Given the description of an element on the screen output the (x, y) to click on. 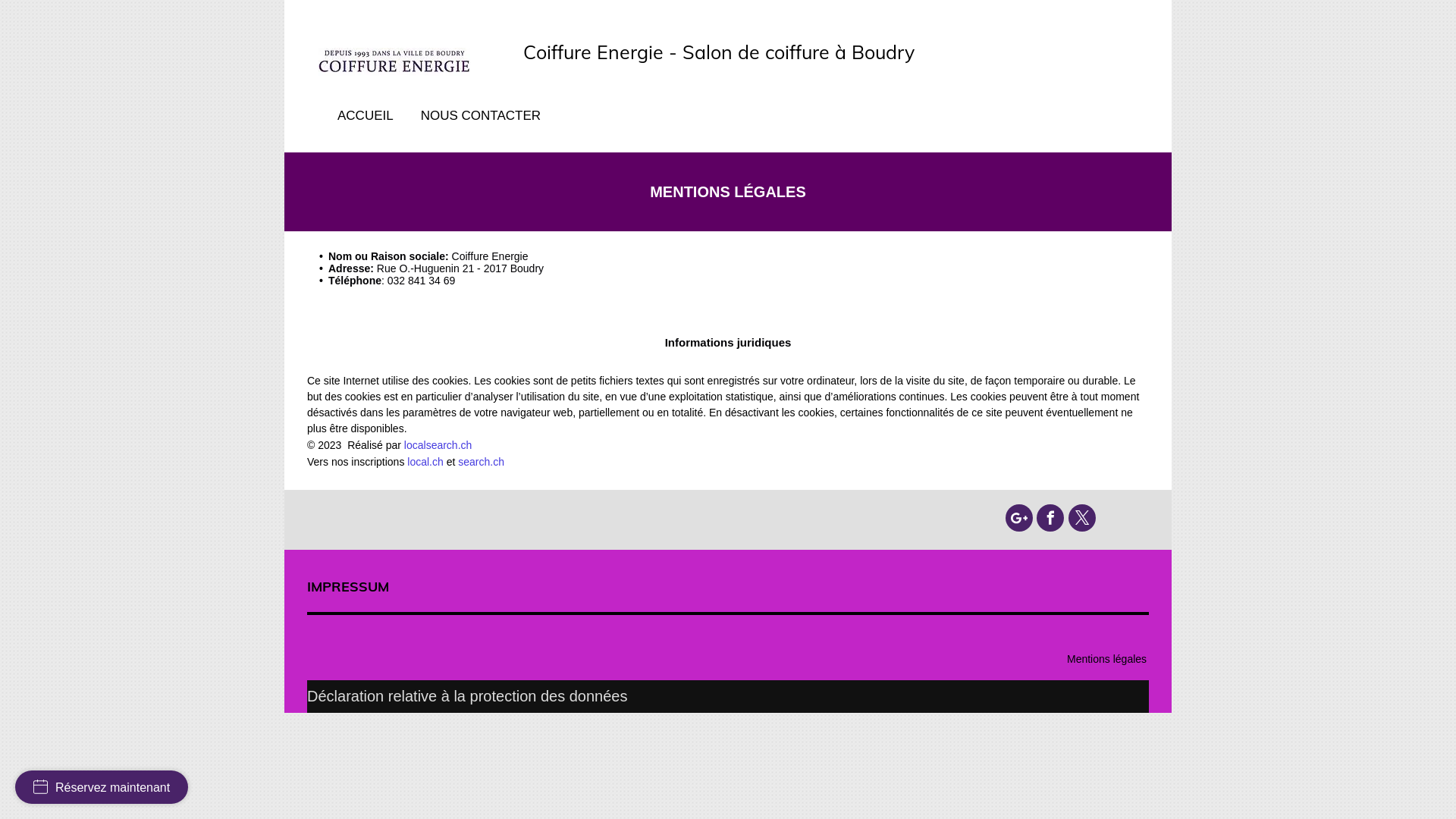
localsearch.ch Element type: text (438, 445)
ACCUEIL Element type: text (367, 115)
search.ch Element type: text (481, 461)
032 841 34 69 Element type: text (421, 280)
NOUS CONTACTER Element type: text (482, 115)
local.ch Element type: text (424, 461)
